Given the description of an element on the screen output the (x, y) to click on. 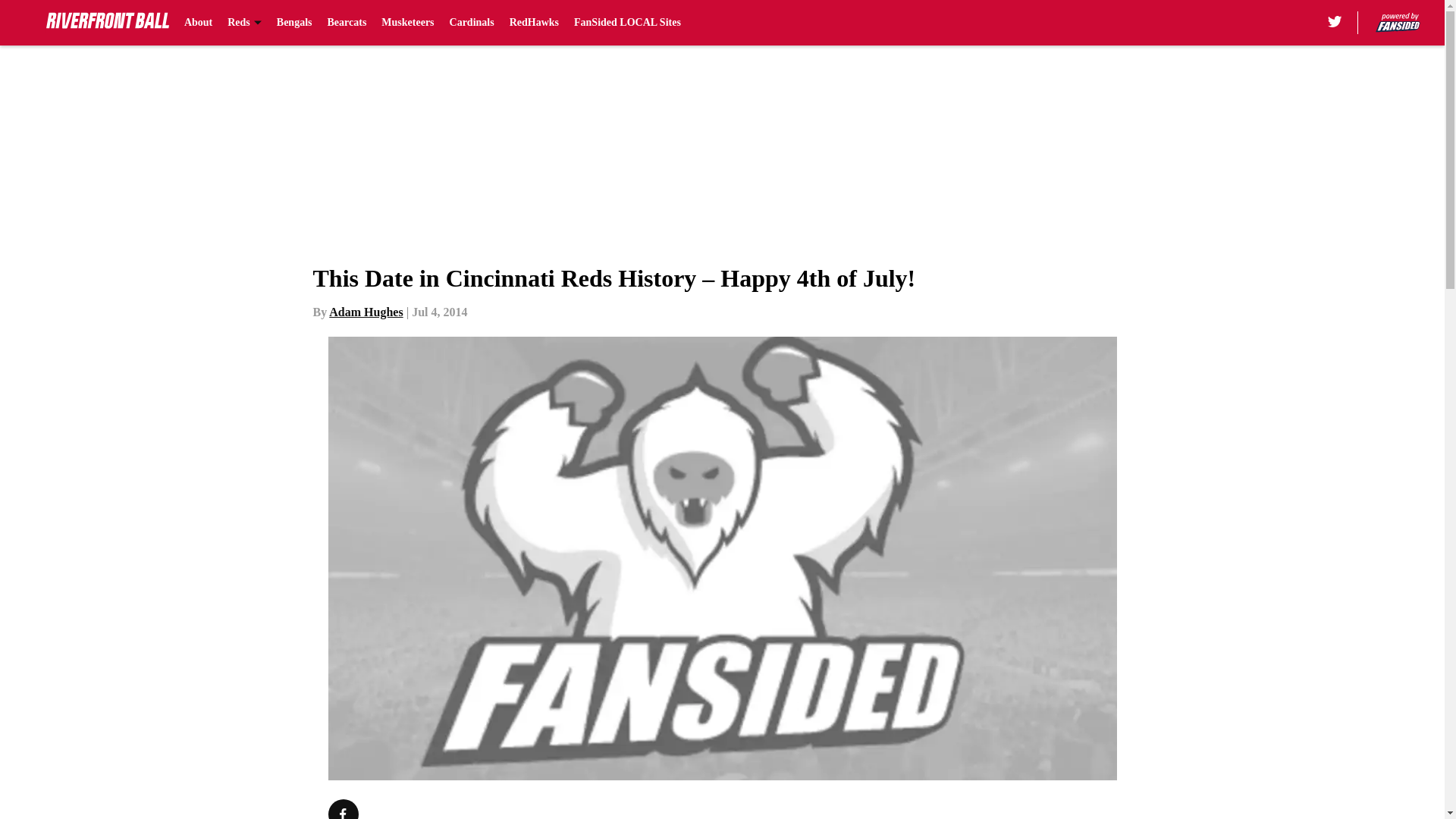
FanSided LOCAL Sites (627, 22)
RedHawks (534, 22)
About (198, 22)
Cardinals (472, 22)
Musketeers (407, 22)
Adam Hughes (366, 311)
Bearcats (346, 22)
Bengals (294, 22)
